Given the description of an element on the screen output the (x, y) to click on. 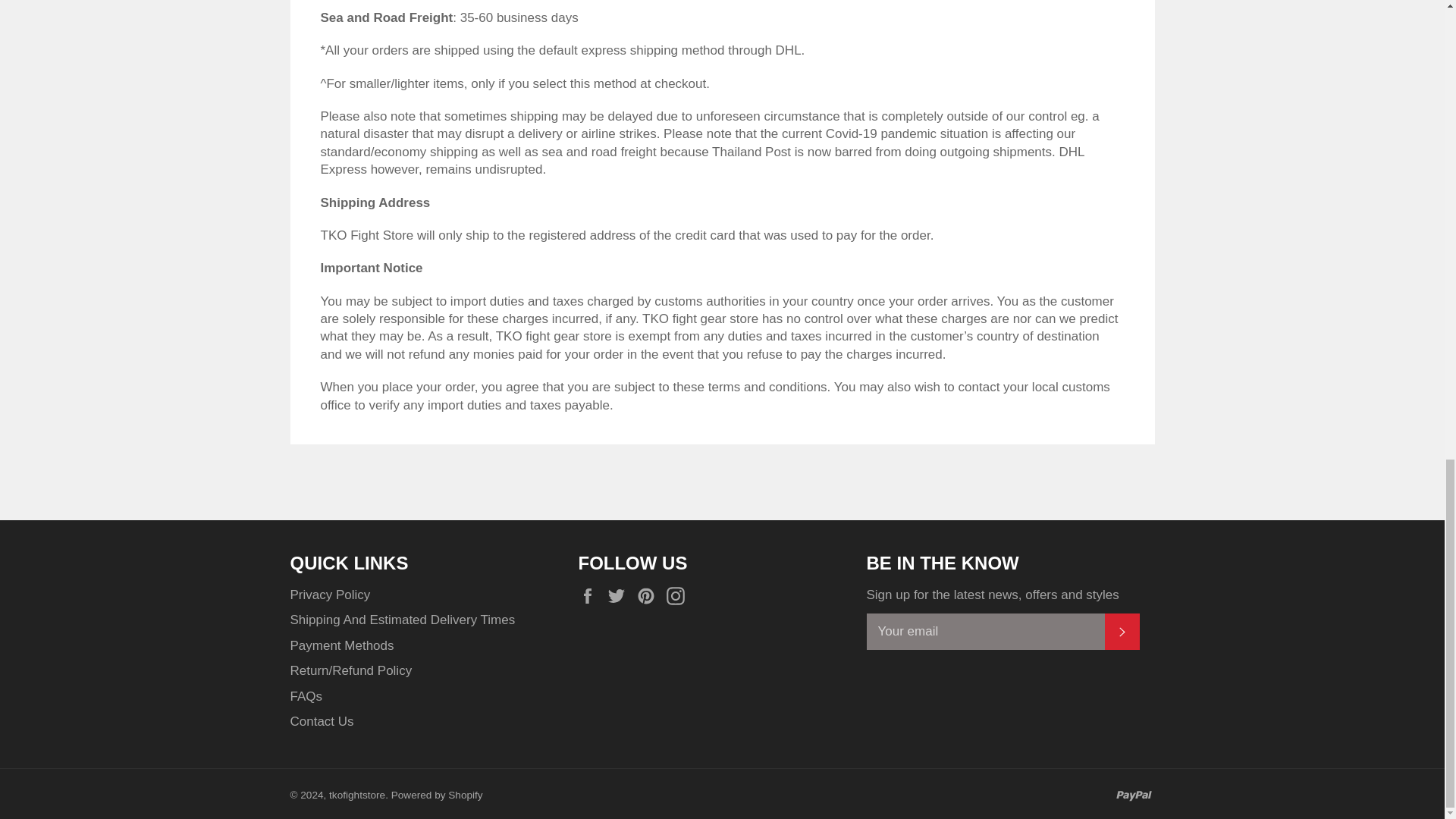
tkofightstore on Facebook (591, 595)
tkofightstore on Pinterest (649, 595)
tkofightstore on Instagram (679, 595)
tkofightstore on Twitter (620, 595)
